Given the description of an element on the screen output the (x, y) to click on. 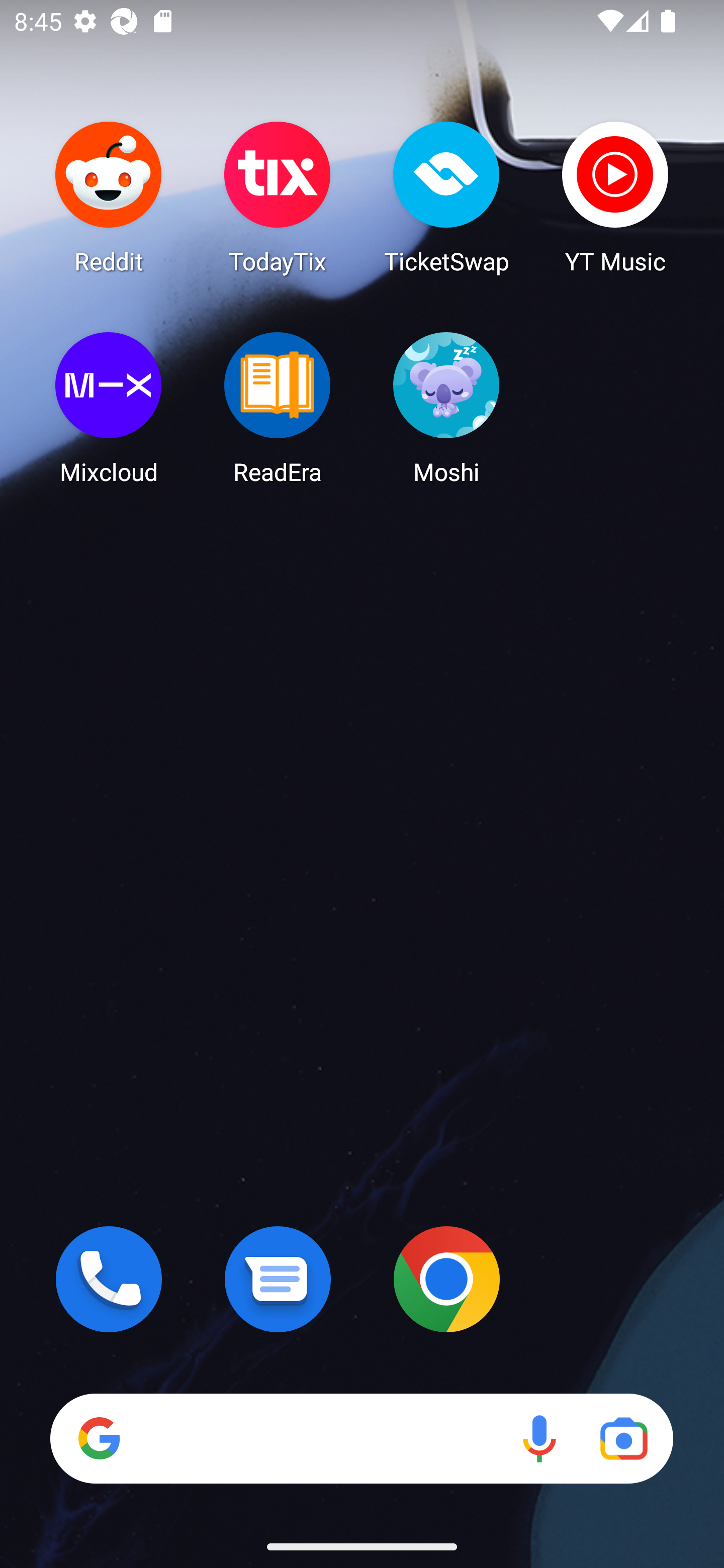
Reddit (108, 196)
TodayTix (277, 196)
TicketSwap (445, 196)
YT Music (615, 196)
Mixcloud (108, 407)
ReadEra (277, 407)
Moshi (445, 407)
Phone (108, 1279)
Messages (277, 1279)
Chrome (446, 1279)
Voice search (539, 1438)
Google Lens (623, 1438)
